Given the description of an element on the screen output the (x, y) to click on. 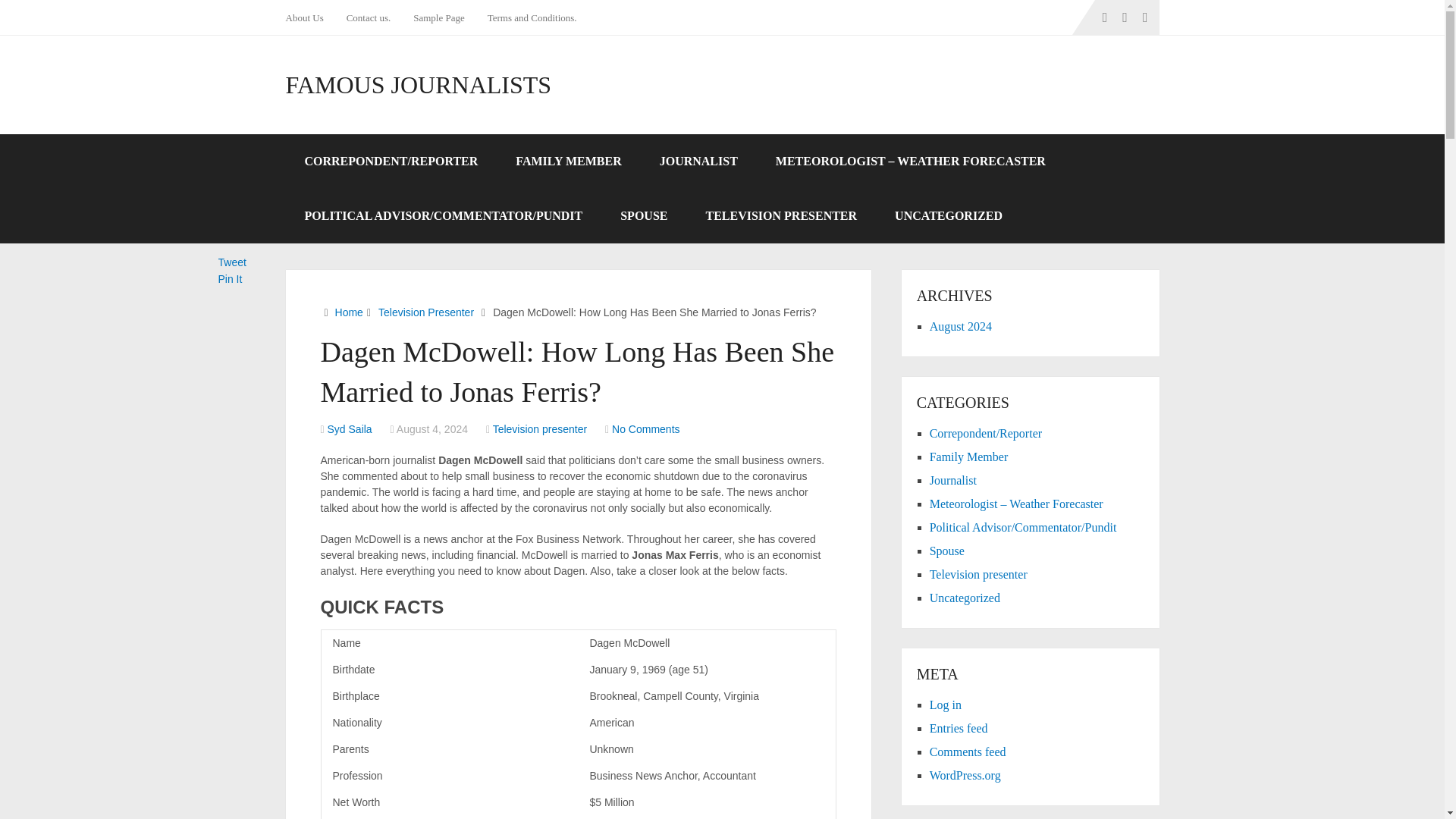
About Us (309, 17)
SPOUSE (643, 216)
Tweet (232, 262)
View all posts in Television presenter (540, 428)
Sample Page (438, 17)
TELEVISION PRESENTER (780, 216)
Television presenter (540, 428)
Terms and Conditions. (532, 17)
Syd Saila (349, 428)
Pin It (230, 278)
